Given the description of an element on the screen output the (x, y) to click on. 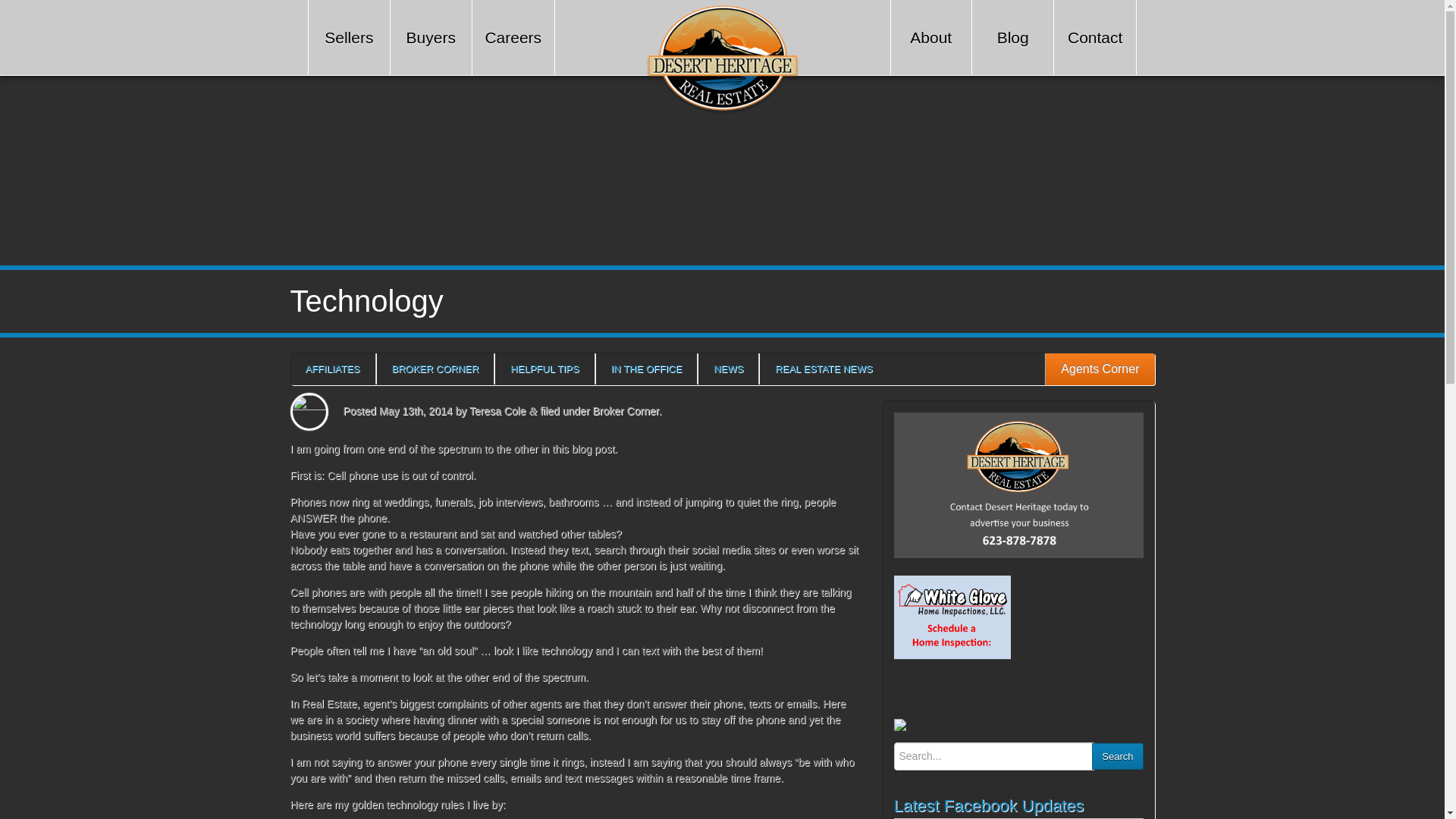
Careers (512, 38)
Search (1117, 755)
Search (1117, 755)
Sellers (348, 38)
Buyers (430, 38)
About (930, 38)
REAL ESTATE NEWS (823, 368)
HELPFUL TIPS (544, 368)
AFFILIATES (331, 368)
NEWS (727, 368)
